Given the description of an element on the screen output the (x, y) to click on. 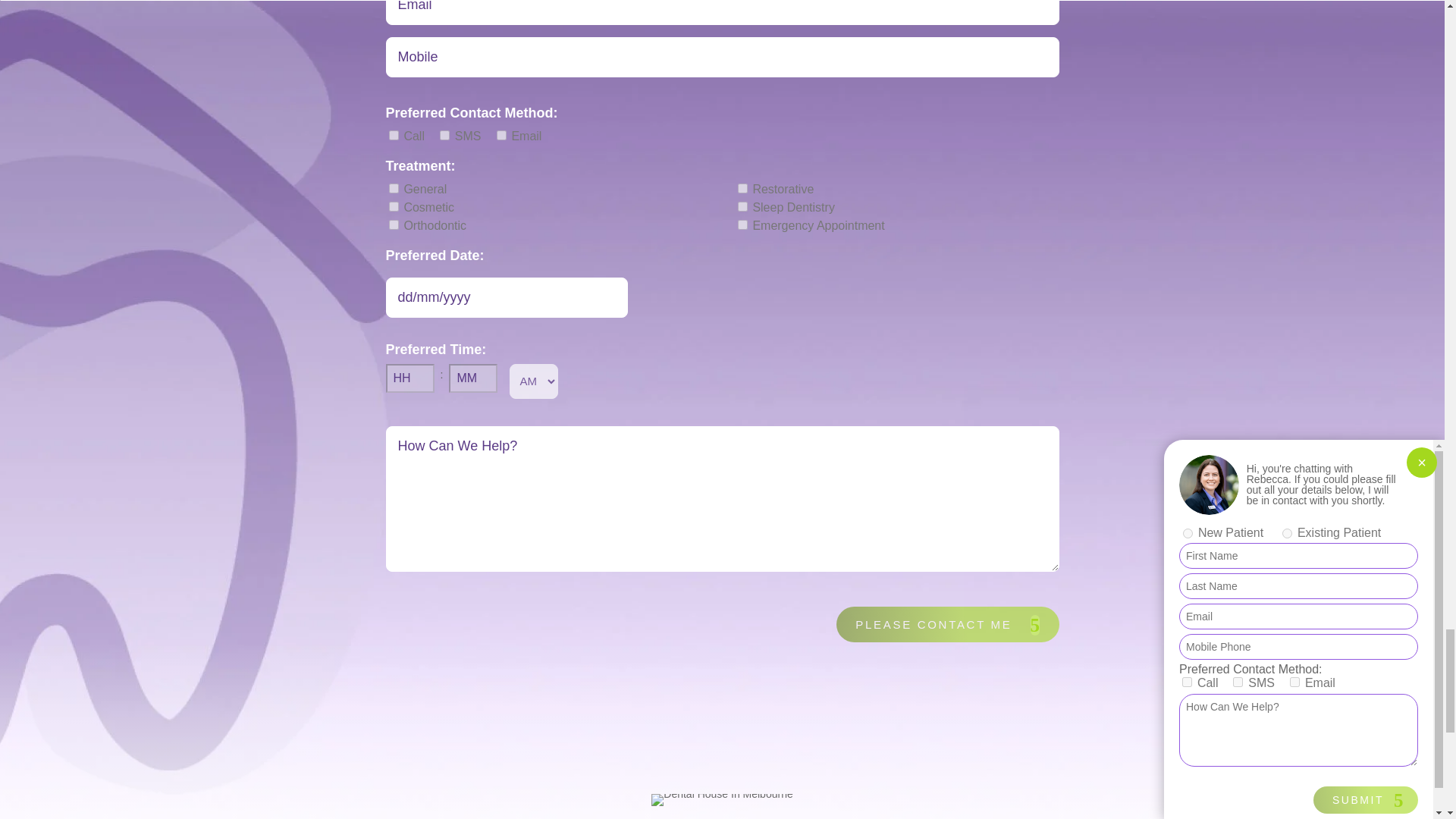
Dental House In Melbourne (721, 799)
